Given the description of an element on the screen output the (x, y) to click on. 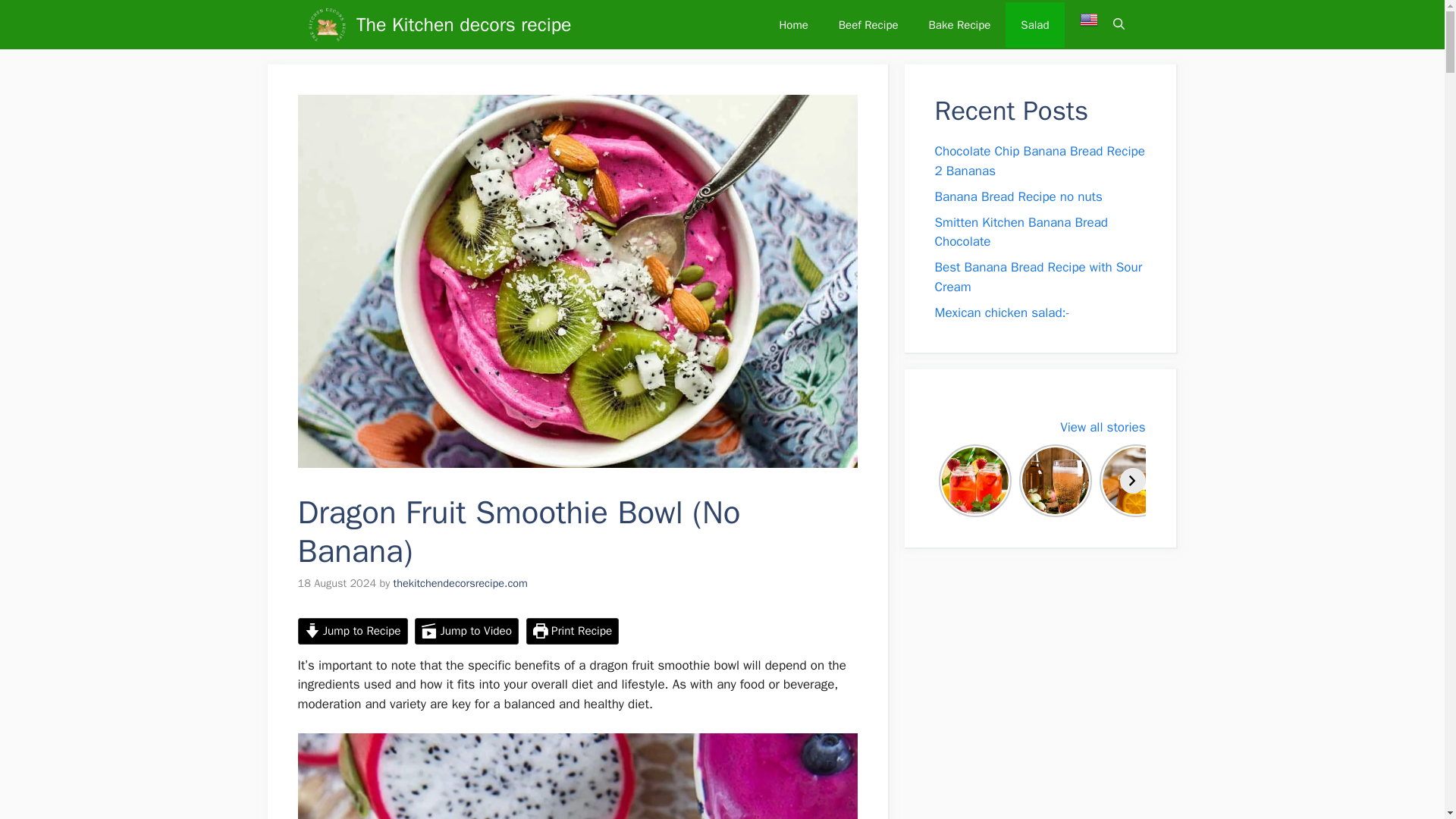
Jump to Recipe (352, 631)
Bake Recipe (960, 23)
Beef Recipe (869, 23)
The Kitchen decors recipe (464, 24)
Salad (1035, 23)
Print Recipe (572, 631)
Jump to Video (466, 631)
The Kitchen decors recipe (326, 24)
Home (792, 23)
thekitchendecorsrecipe.com (460, 582)
